Given the description of an element on the screen output the (x, y) to click on. 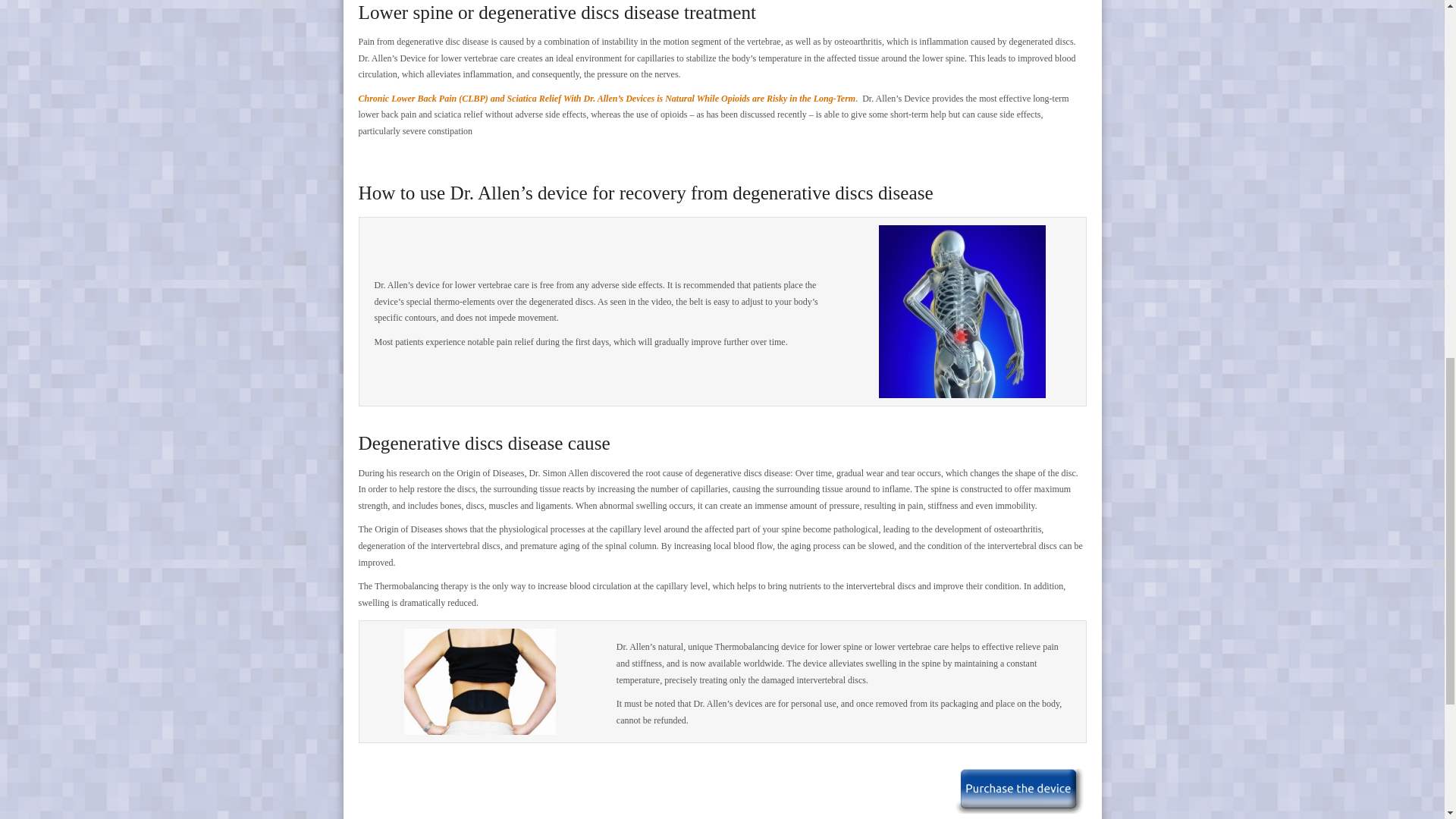
lower-vertebrae-treatment (480, 681)
Lower spine (962, 311)
Lower spine (962, 311)
